Given the description of an element on the screen output the (x, y) to click on. 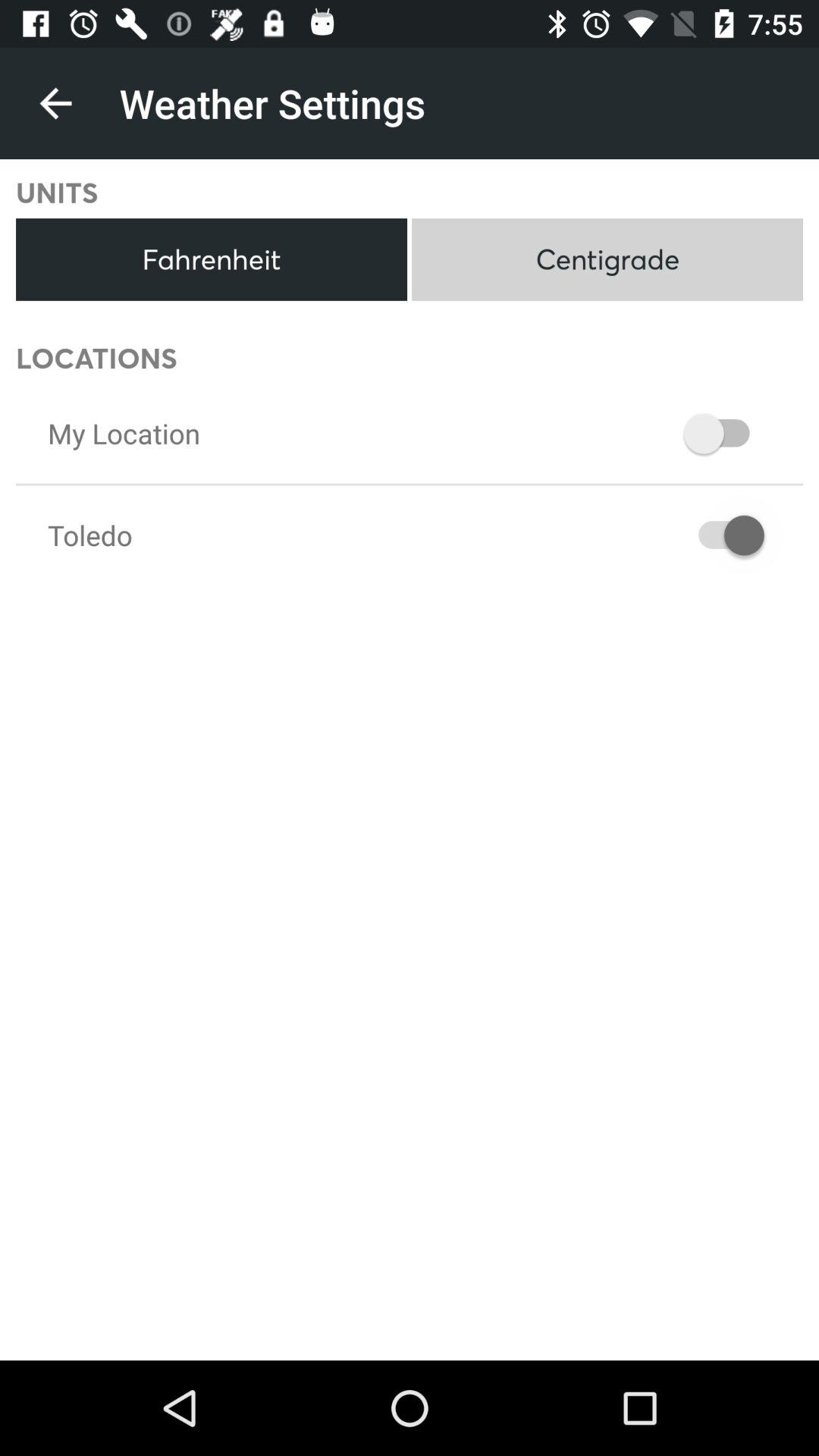
tap the toledo on the left (89, 534)
